Given the description of an element on the screen output the (x, y) to click on. 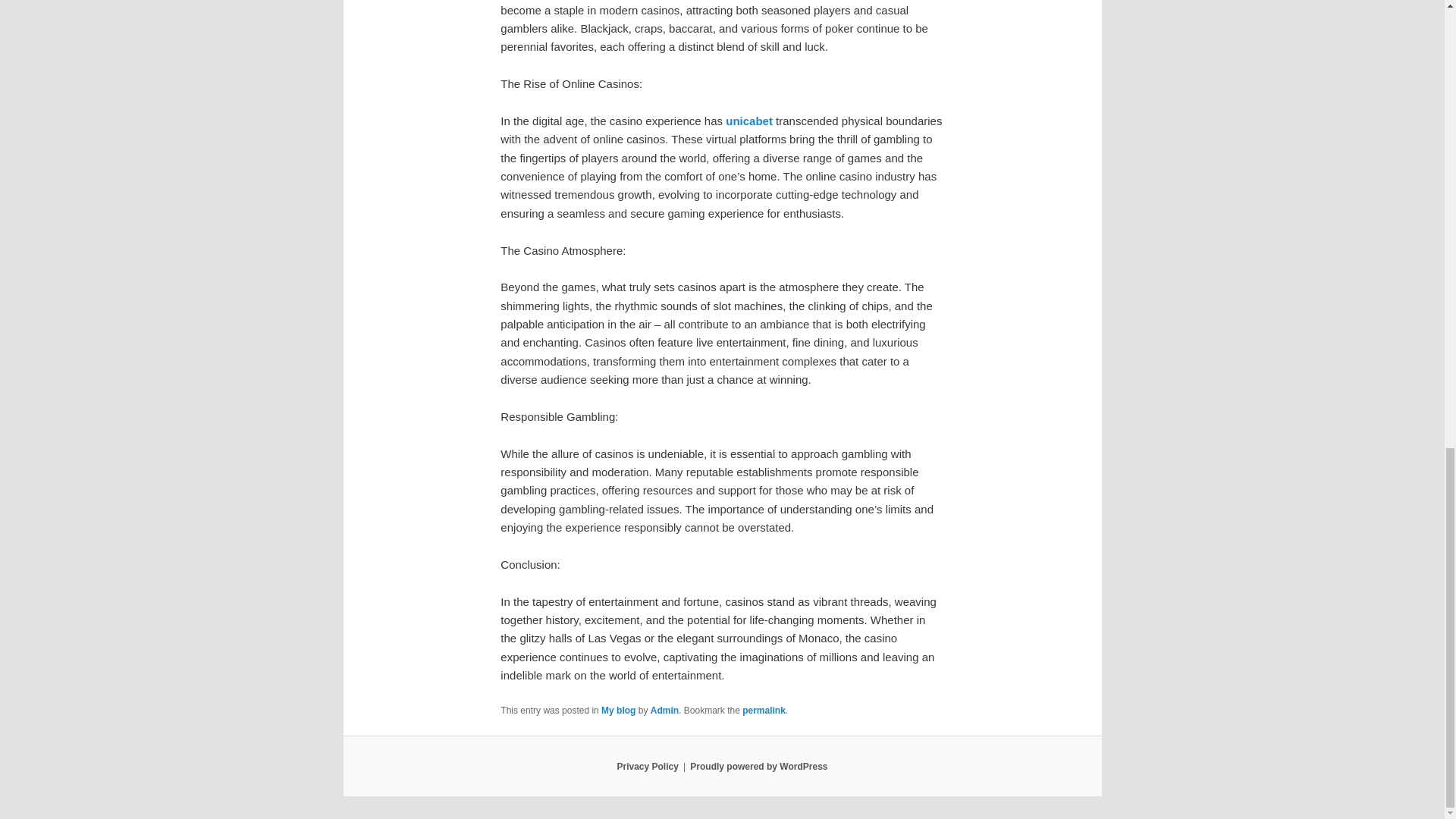
Semantic Personal Publishing Platform (758, 766)
unicabet (749, 120)
Admin (664, 710)
permalink (764, 710)
Privacy Policy (646, 766)
Proudly powered by WordPress (758, 766)
My blog (617, 710)
